Given the description of an element on the screen output the (x, y) to click on. 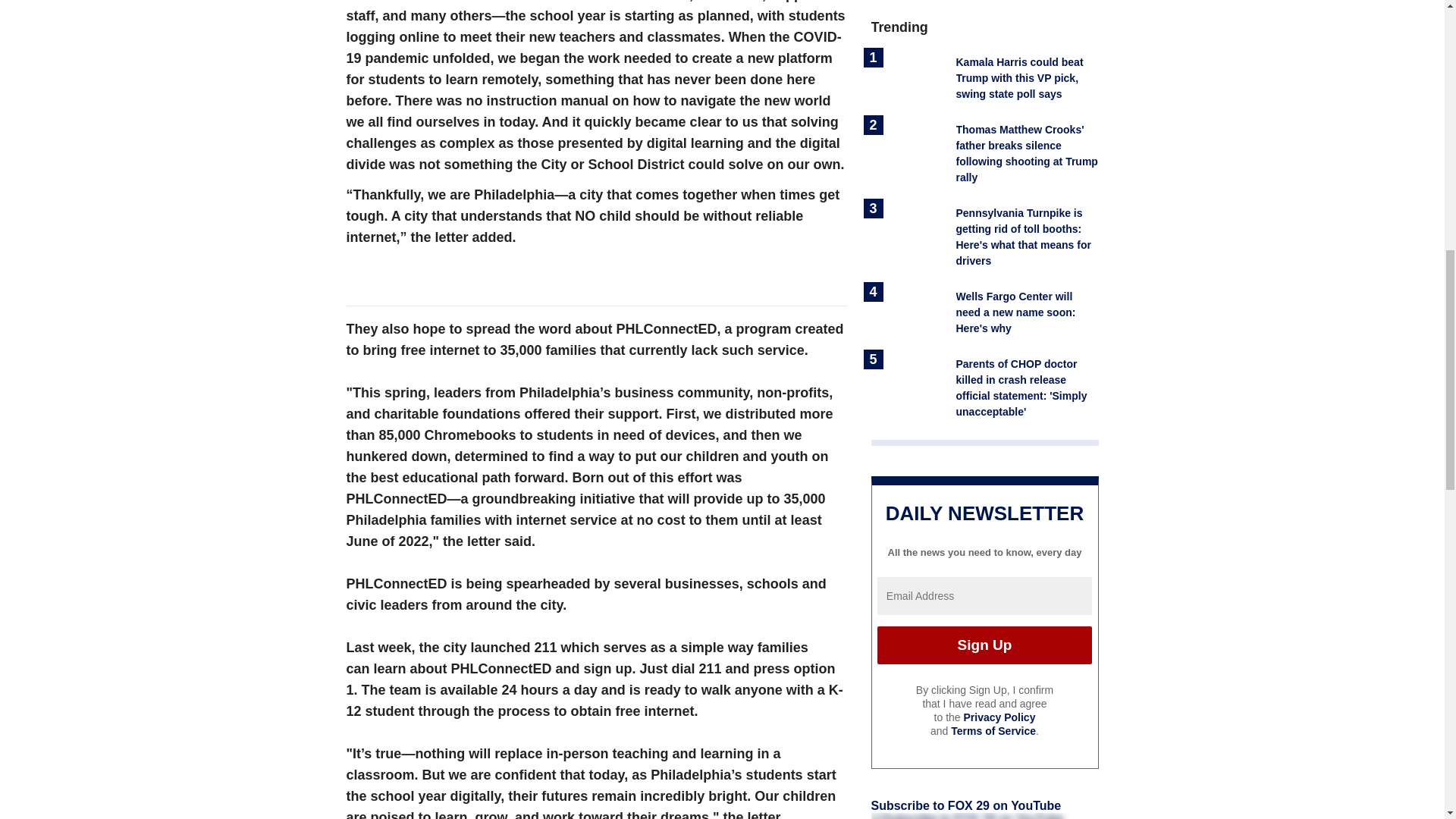
Sign Up (984, 645)
